Given the description of an element on the screen output the (x, y) to click on. 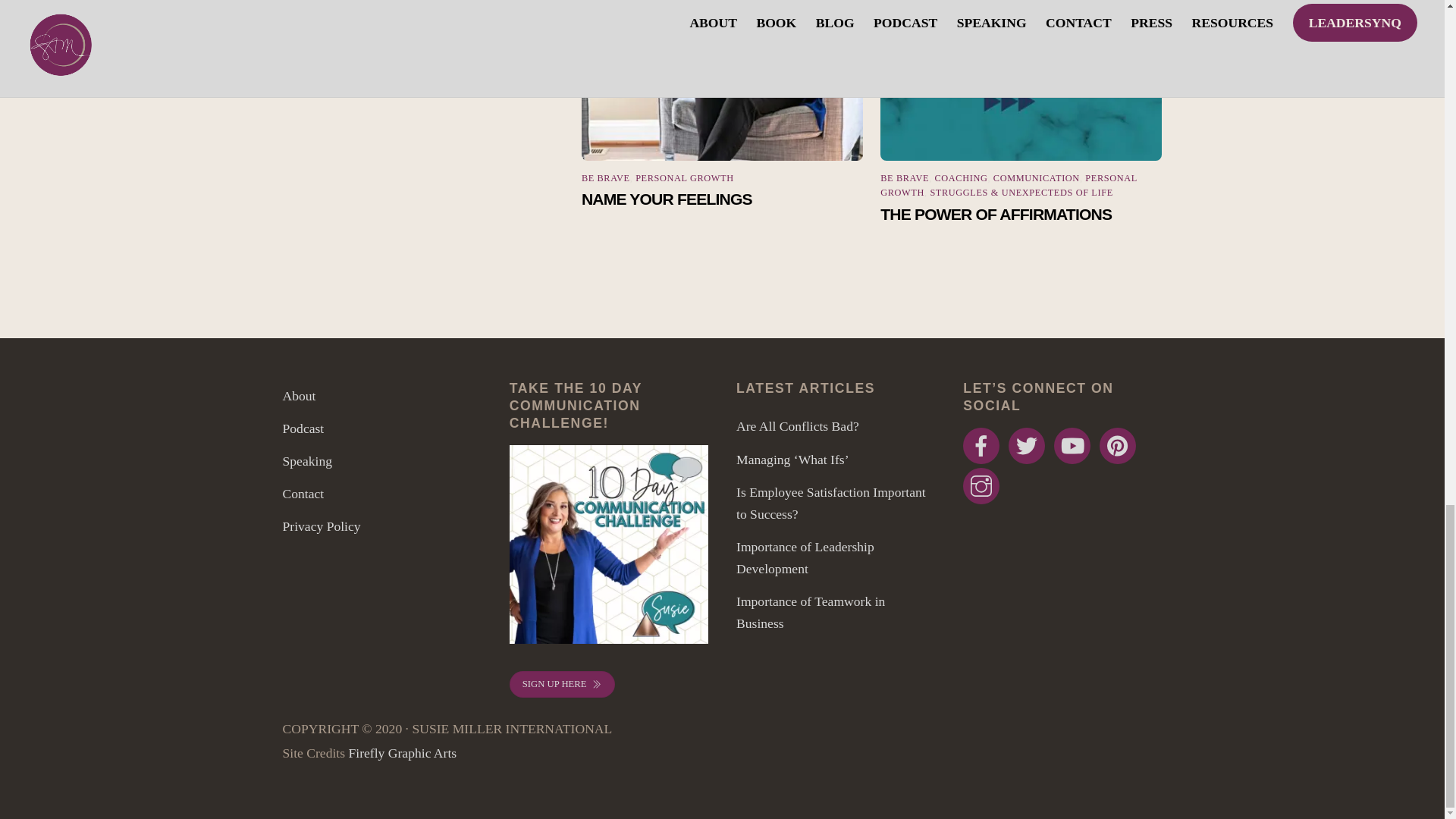
BE BRAVE (904, 177)
Power Of Affirmations (1020, 80)
PERSONAL GROWTH (683, 177)
Podcast (302, 427)
BE BRAVE (605, 177)
NAME YOUR FEELINGS (721, 80)
Contact (302, 493)
COMMUNICATION (1036, 177)
Speaking (306, 460)
COACHING (961, 177)
